Given the description of an element on the screen output the (x, y) to click on. 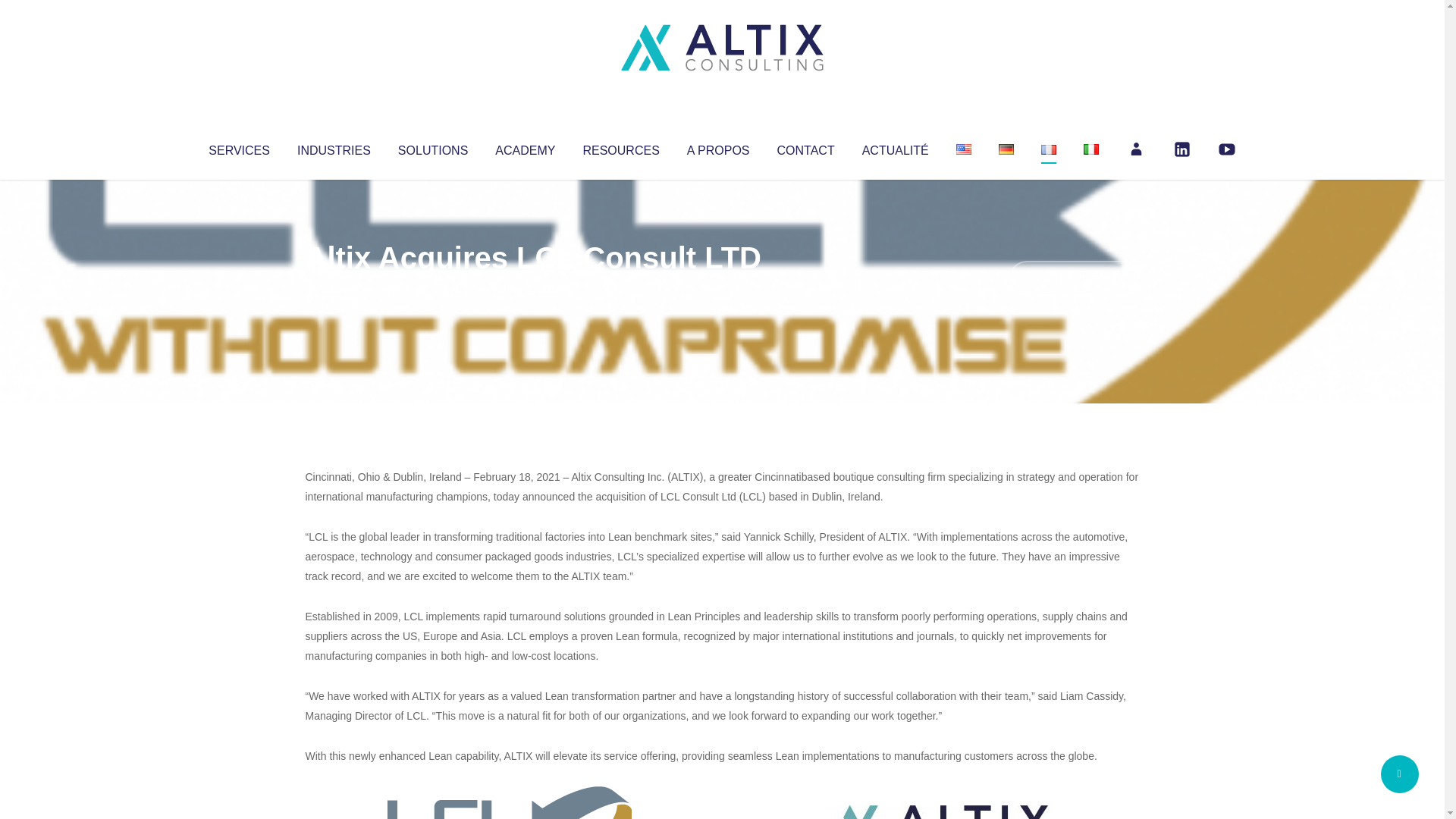
Altix (333, 287)
SERVICES (238, 146)
ACADEMY (524, 146)
RESOURCES (620, 146)
SOLUTIONS (432, 146)
Uncategorized (530, 287)
A PROPOS (718, 146)
Articles par Altix (333, 287)
INDUSTRIES (334, 146)
No Comments (1073, 278)
